Given the description of an element on the screen output the (x, y) to click on. 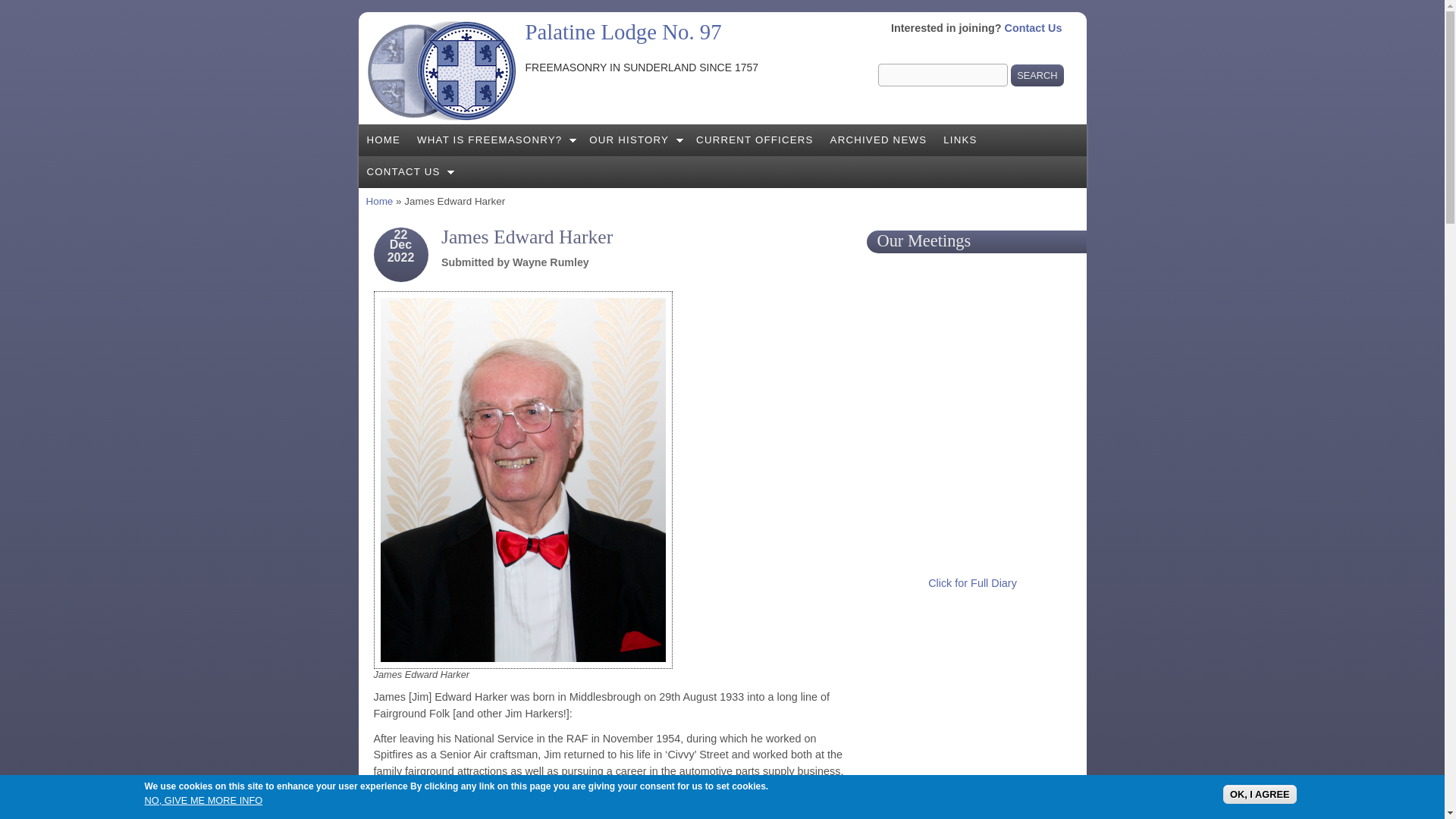
ARCHIVED NEWS (879, 140)
Search (1036, 75)
Home (379, 201)
Videos and brief introduction (494, 140)
Home (622, 31)
OK, I AGREE (1259, 793)
Links to other Masonic web sites (959, 140)
Enter the terms you wish to search for. (942, 74)
HOME (383, 140)
Search (1036, 75)
WHAT IS FREEMASONRY? (494, 140)
NO, GIVE ME MORE INFO (203, 799)
The History of our Lodge (633, 140)
Contact Us (1033, 28)
